Given the description of an element on the screen output the (x, y) to click on. 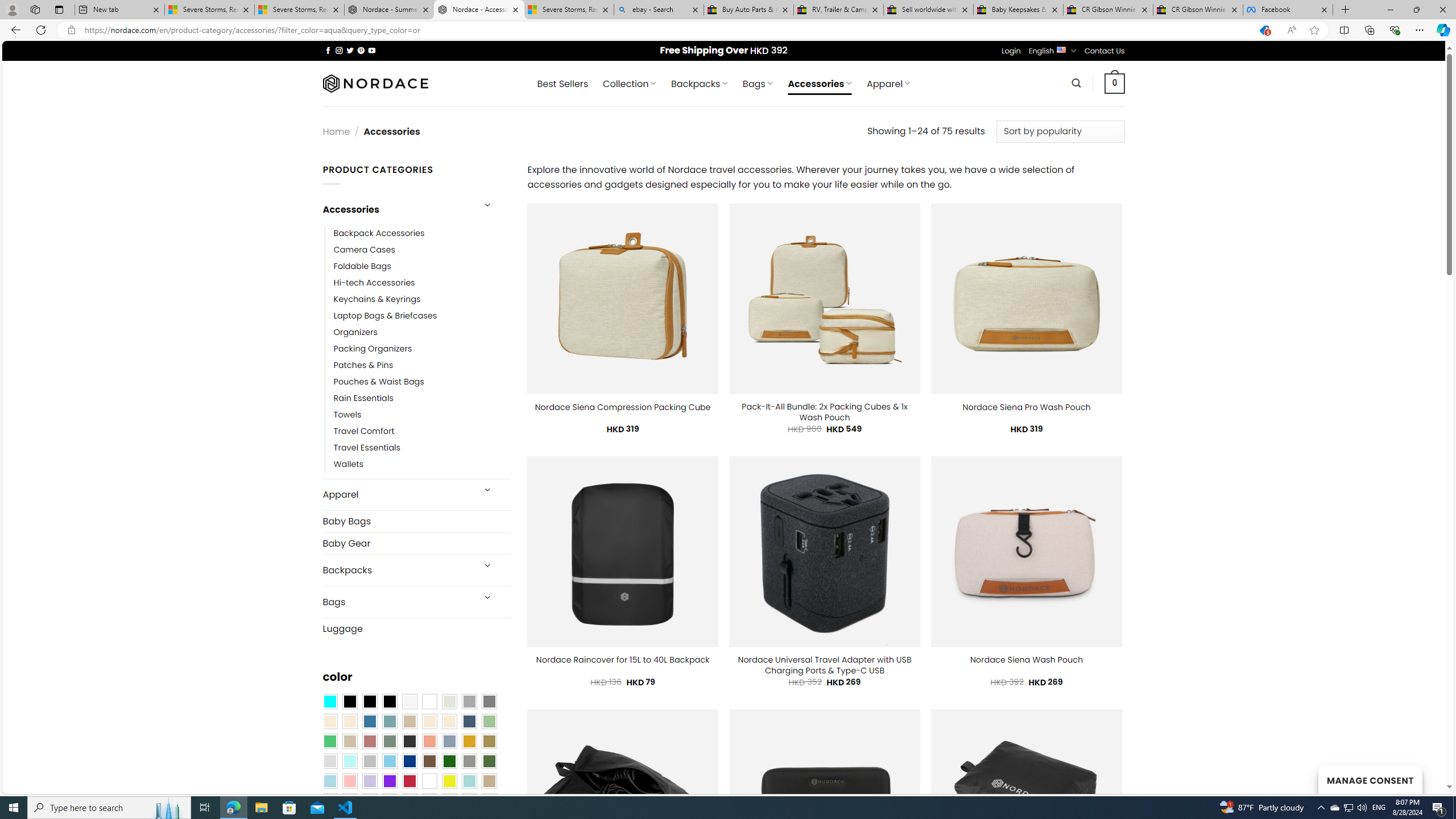
Packing Organizers (372, 348)
Travel Comfort (422, 431)
Patches & Pins (363, 365)
Packing Organizers (422, 348)
Hale Navy (468, 721)
Baby Bags (416, 521)
Sky Blue (389, 761)
Keychains & Keyrings (376, 298)
